Given the description of an element on the screen output the (x, y) to click on. 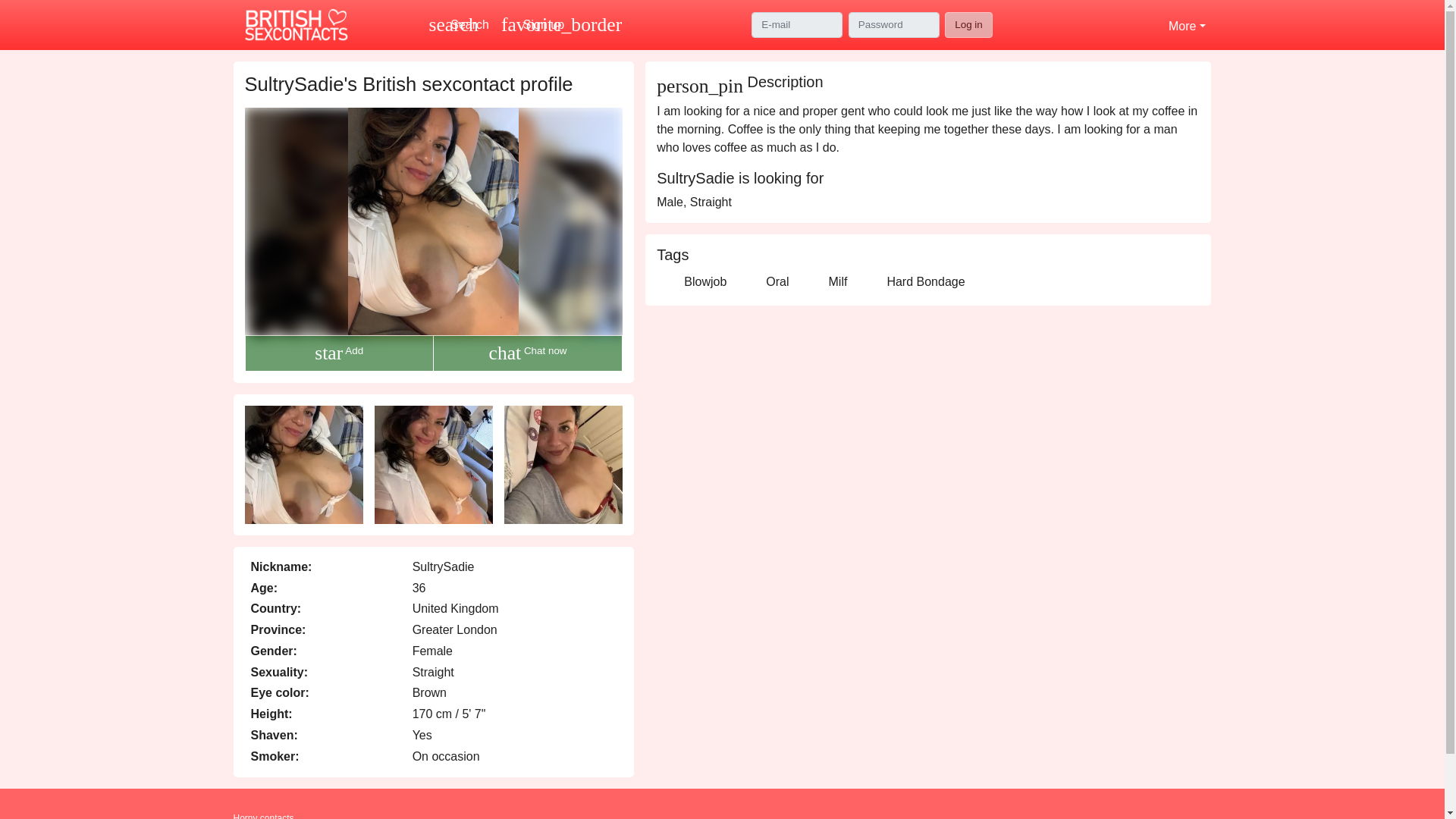
star Add (338, 352)
More (1186, 24)
chat Chat now (528, 352)
Log in (459, 24)
Horny contacts (968, 24)
